Given the description of an element on the screen output the (x, y) to click on. 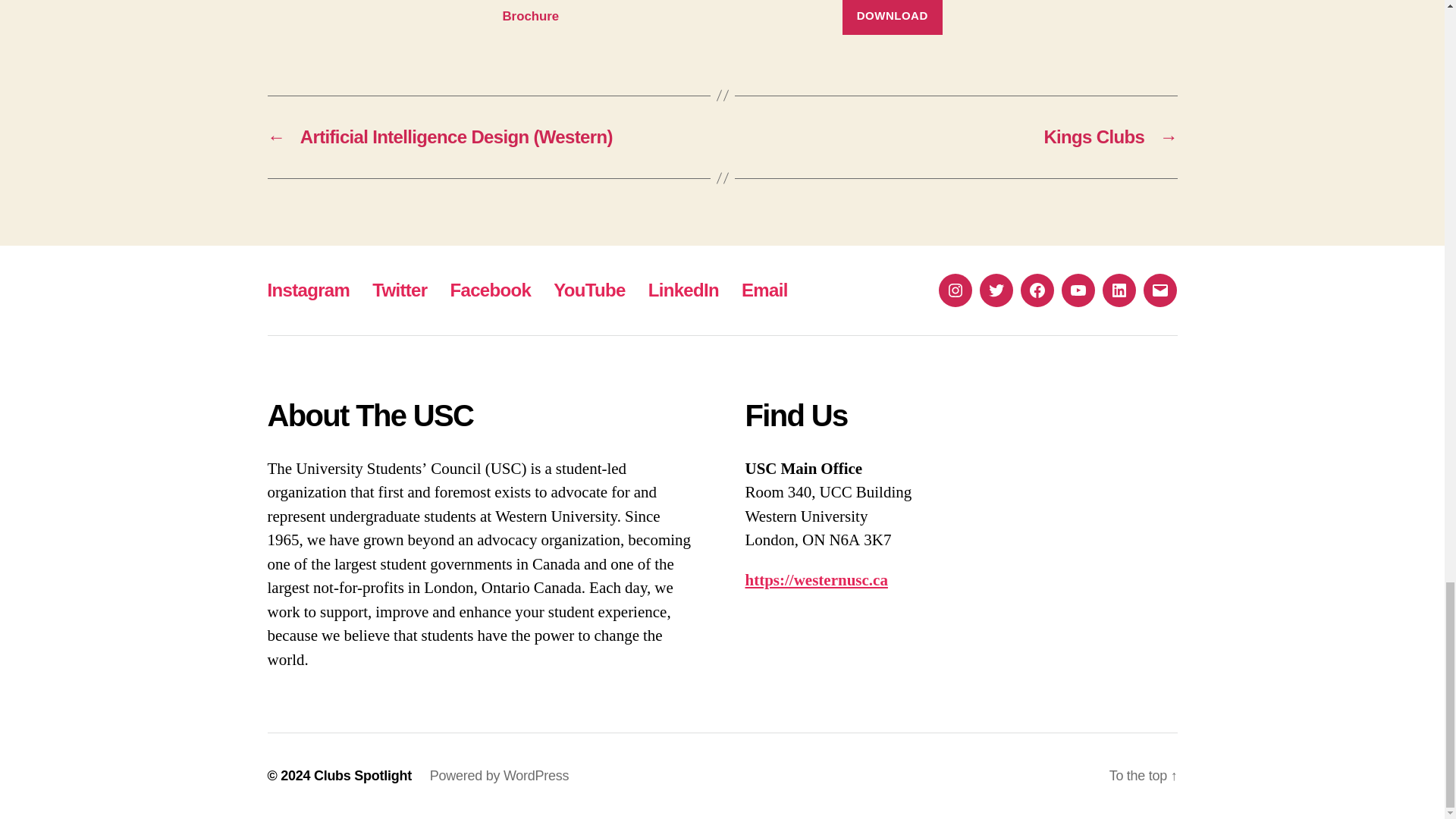
LinkedIn (683, 290)
Instagram (307, 290)
YouTube (588, 290)
Brochure (530, 15)
Twitter (399, 290)
DOWNLOAD (892, 17)
Facebook (490, 290)
Email (764, 290)
